Given the description of an element on the screen output the (x, y) to click on. 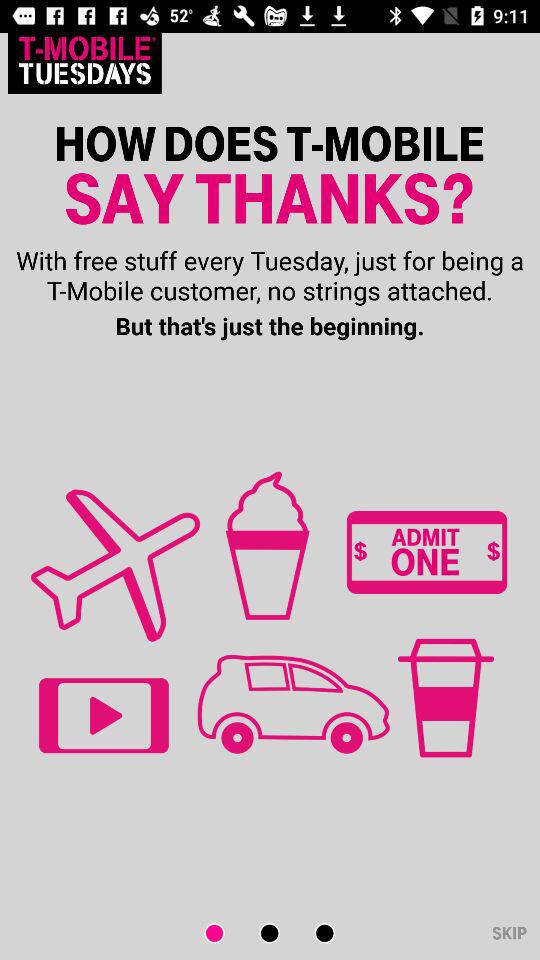
click the 1st page (226, 933)
